Given the description of an element on the screen output the (x, y) to click on. 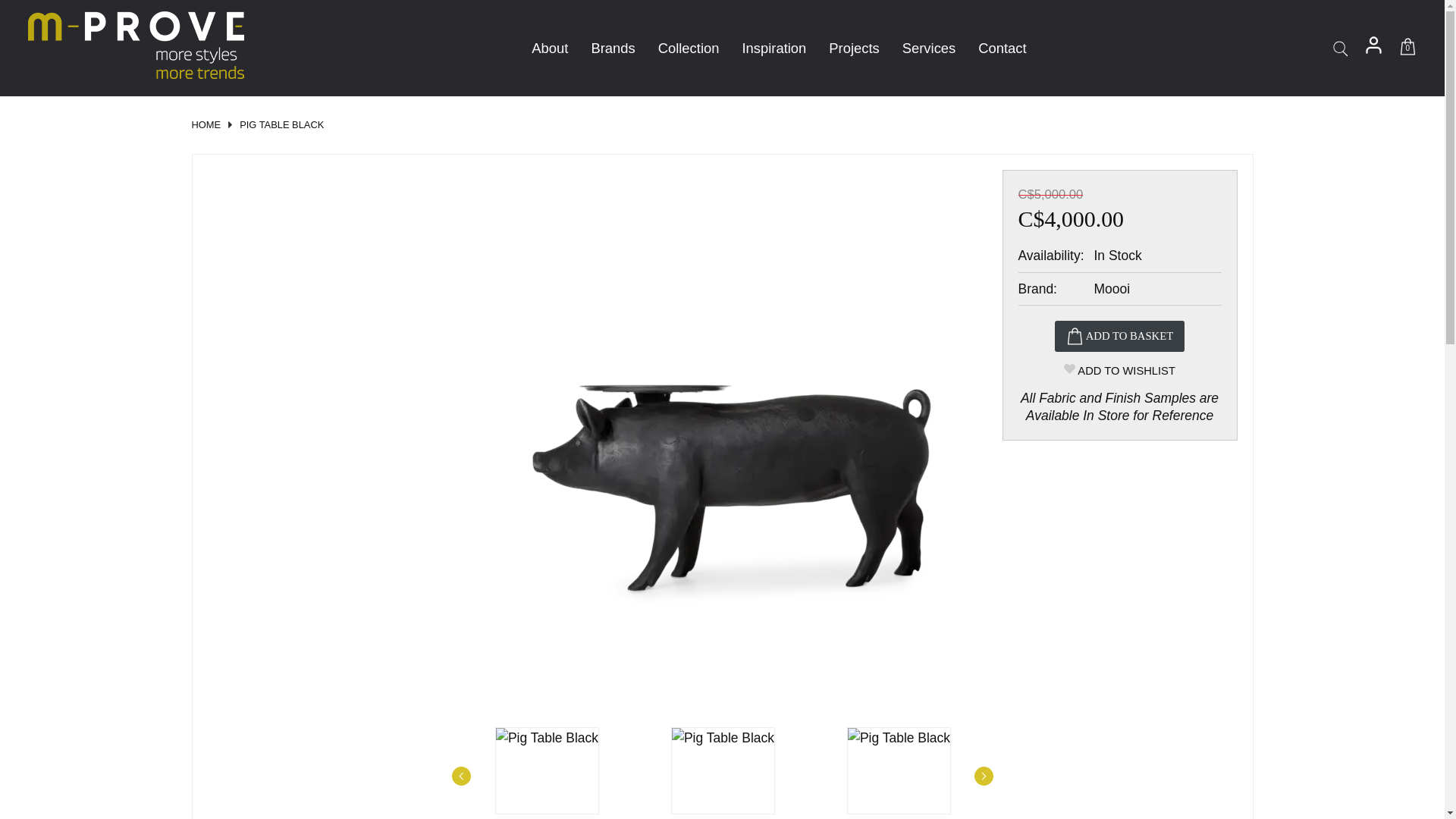
Search (1340, 48)
Brands (612, 47)
Cart (1407, 50)
About (549, 47)
Login (1373, 50)
Collection (688, 47)
